Given the description of an element on the screen output the (x, y) to click on. 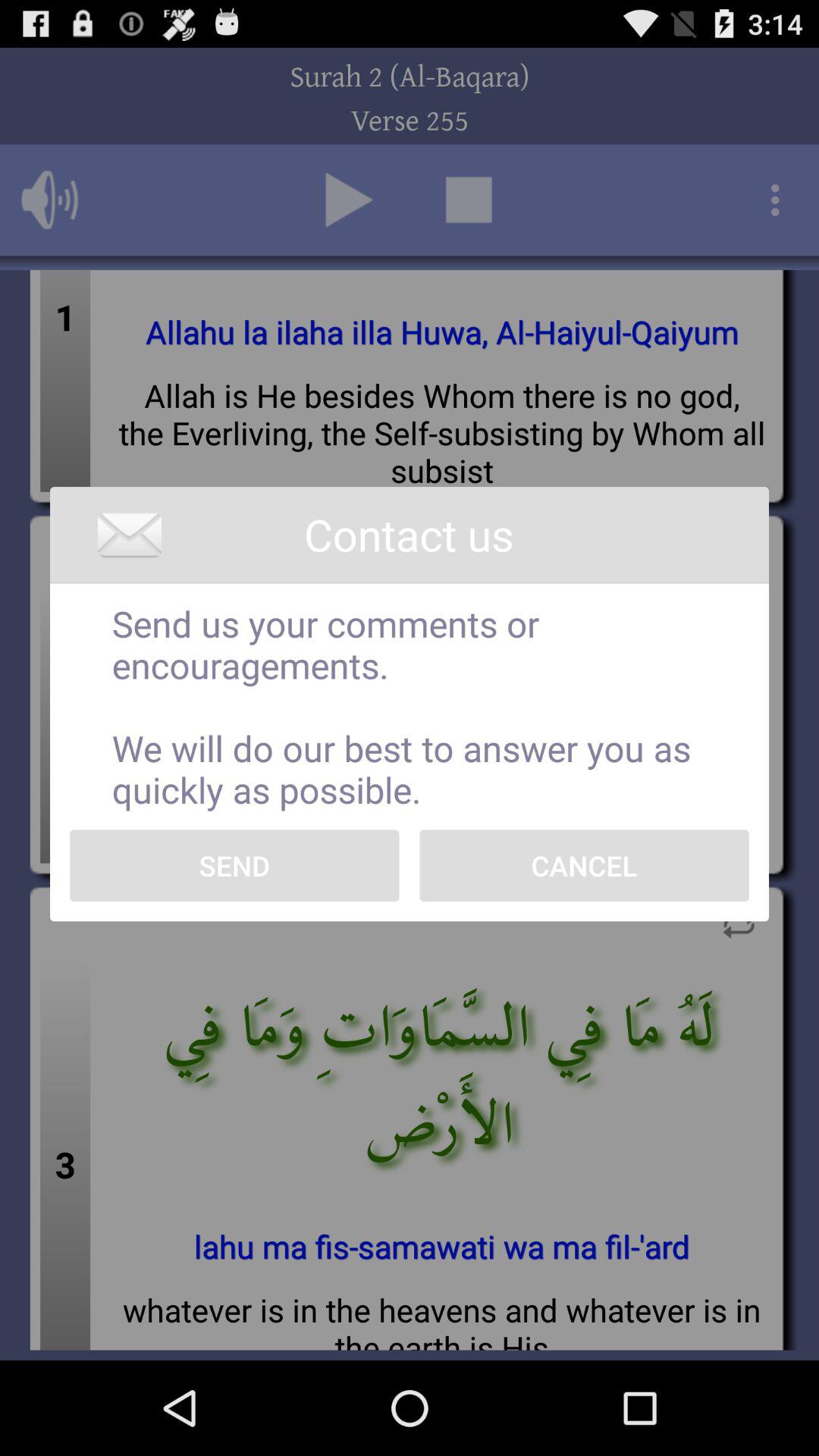
jump to send us your item (409, 706)
